Given the description of an element on the screen output the (x, y) to click on. 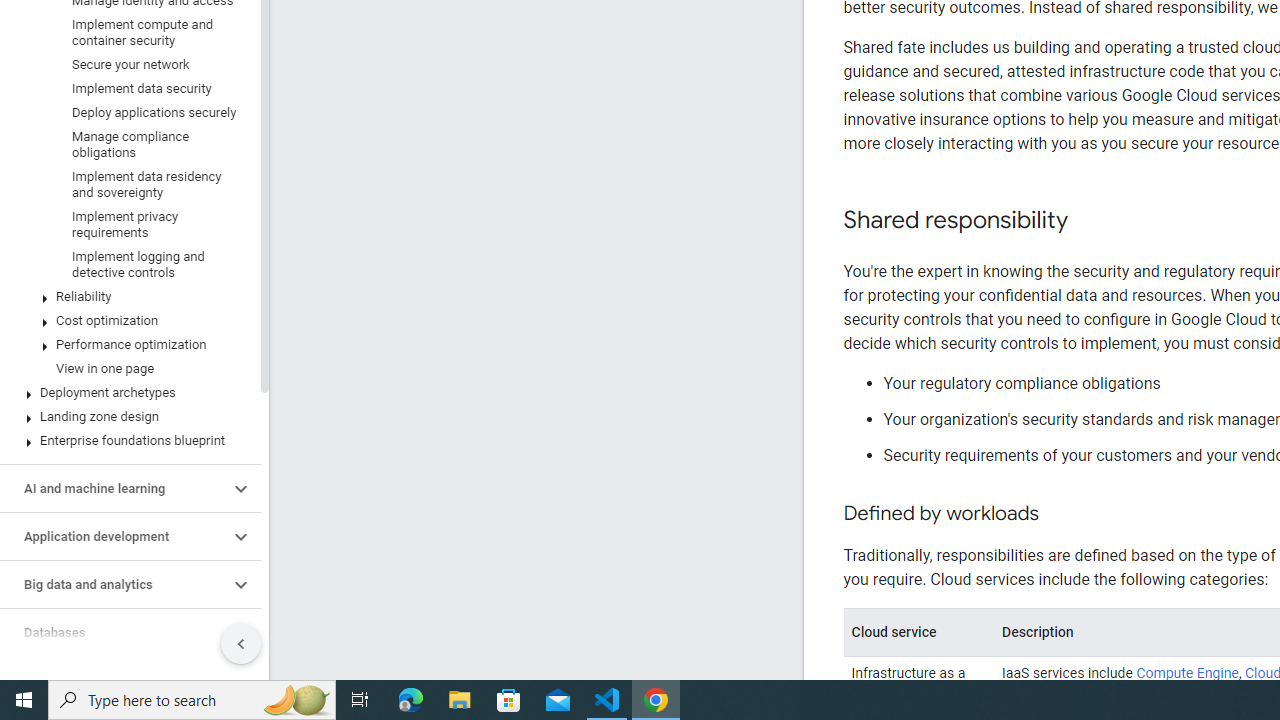
Big data and analytics (114, 584)
Cost optimization (126, 320)
Databases (114, 632)
AI and machine learning (114, 488)
Deployment archetypes (126, 392)
Compute Engine (1187, 673)
Implement data residency and sovereignty (126, 184)
Manage compliance obligations (126, 144)
Secure your network (126, 65)
Application development (114, 536)
